Given the description of an element on the screen output the (x, y) to click on. 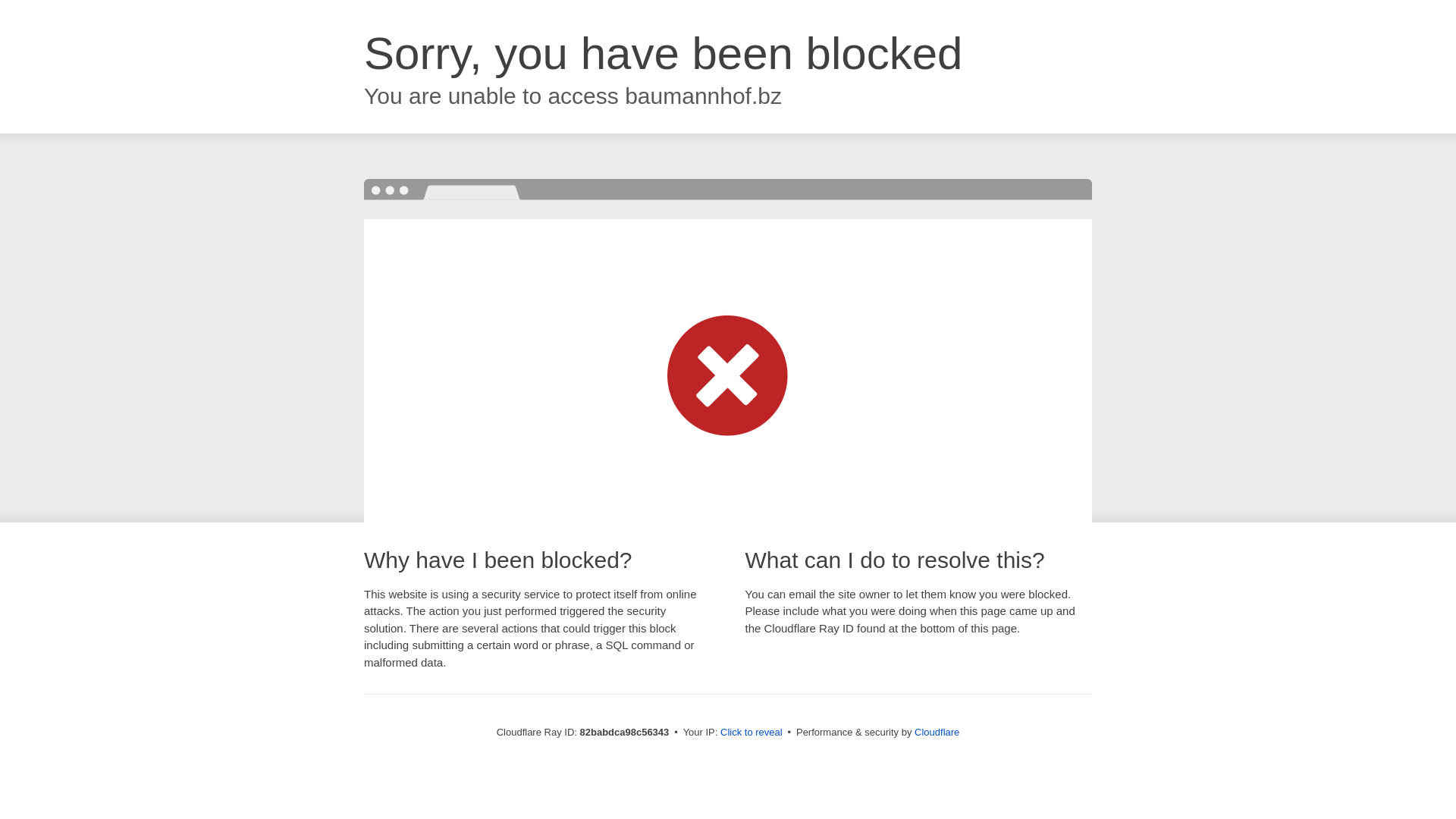
Click to reveal Element type: text (751, 732)
Cloudflare Element type: text (936, 731)
